Given the description of an element on the screen output the (x, y) to click on. 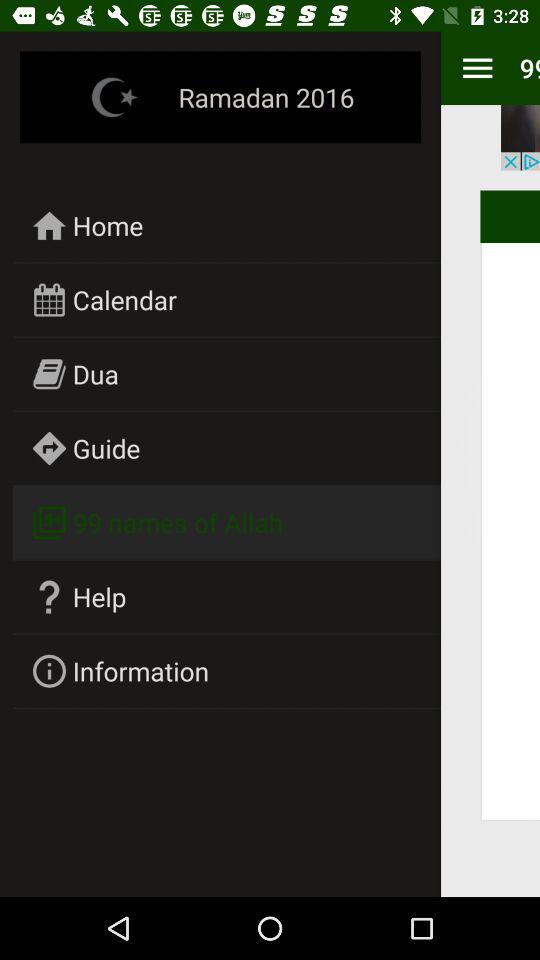
choose icon next to 99 names of app (477, 68)
